Given the description of an element on the screen output the (x, y) to click on. 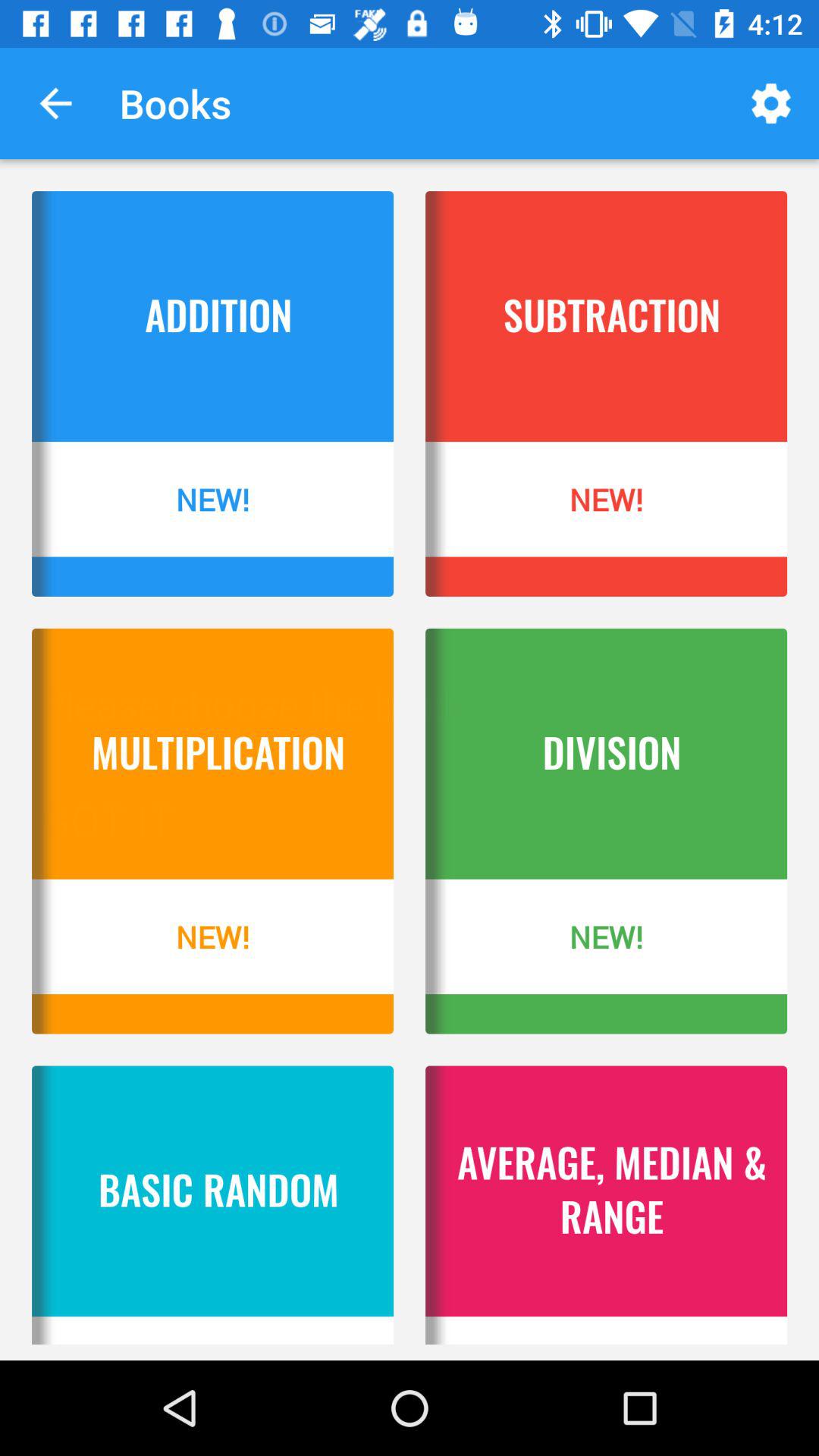
press the item next to the books item (55, 103)
